Given the description of an element on the screen output the (x, y) to click on. 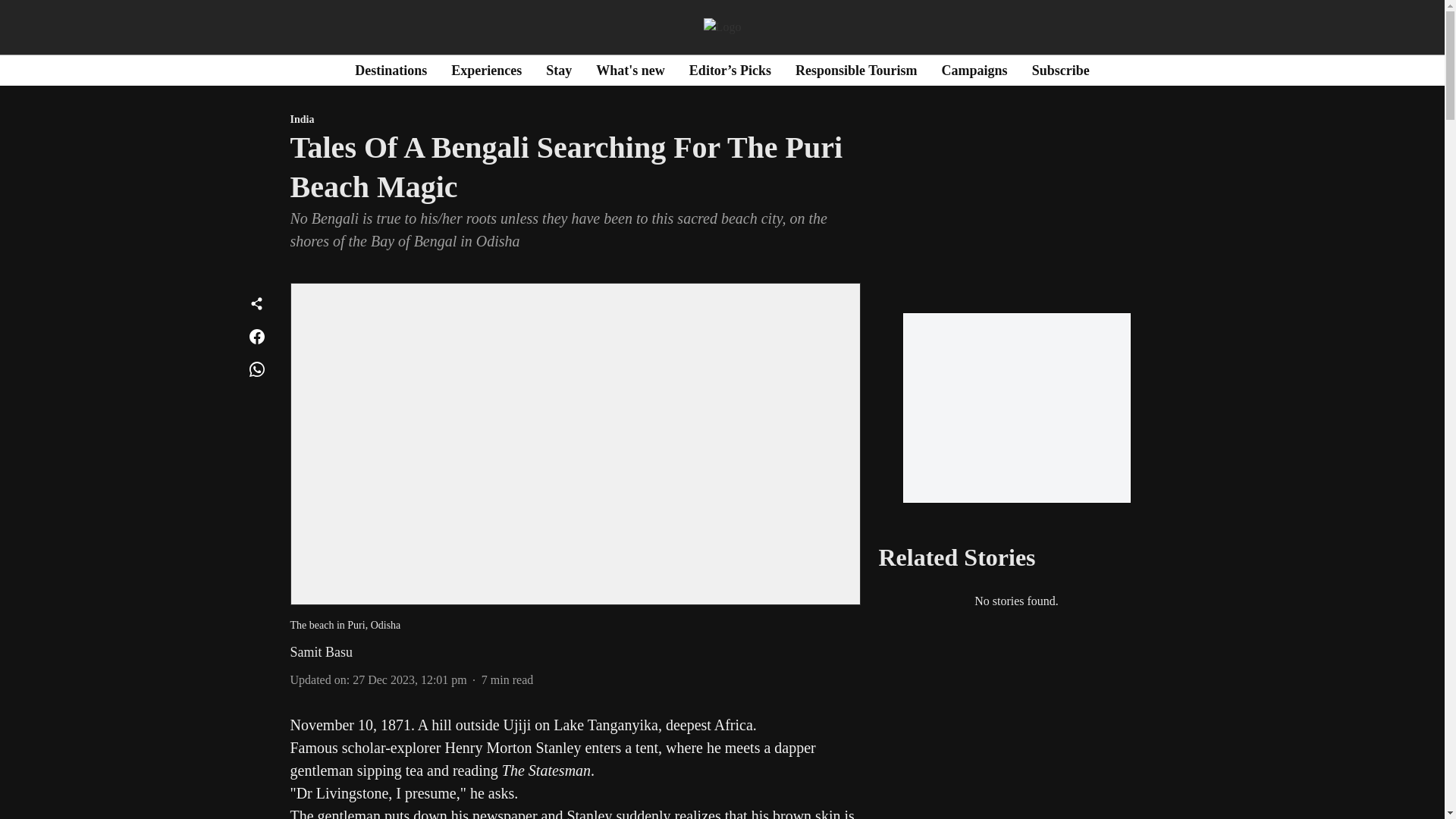
Subscribe (1060, 70)
Experiences (486, 70)
What's new (630, 70)
Samit Basu (320, 652)
Destinations (390, 70)
Stay (559, 70)
India (574, 119)
Responsible Tourism (855, 70)
